Given the description of an element on the screen output the (x, y) to click on. 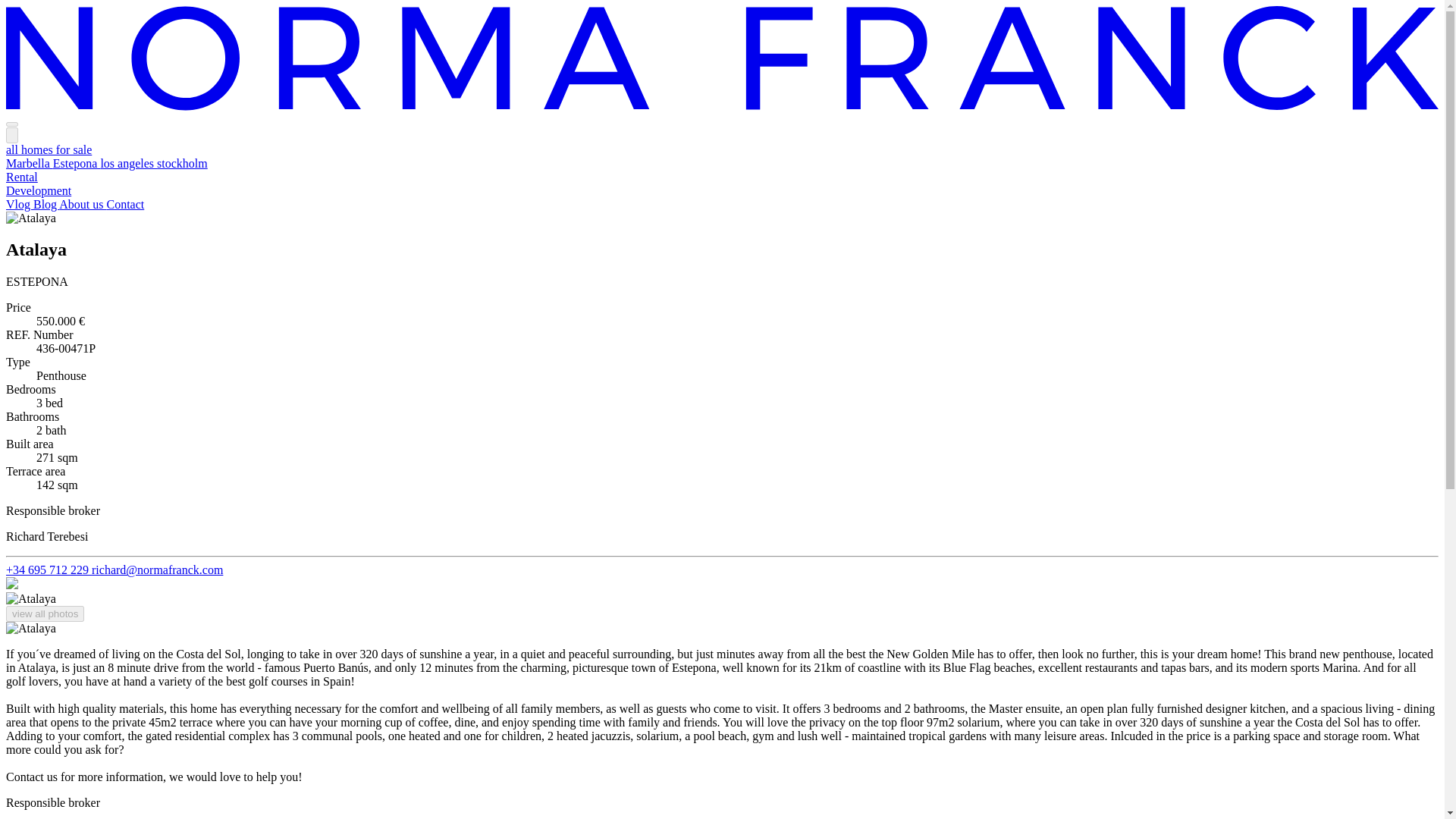
Vlog (19, 204)
About us (82, 204)
Rental (21, 176)
Contact (125, 204)
Estepona (76, 163)
Development (38, 190)
los angeles (128, 163)
all homes for sale (48, 149)
stockholm (182, 163)
Marbella (28, 163)
view all photos (44, 613)
Blog (46, 204)
